Given the description of an element on the screen output the (x, y) to click on. 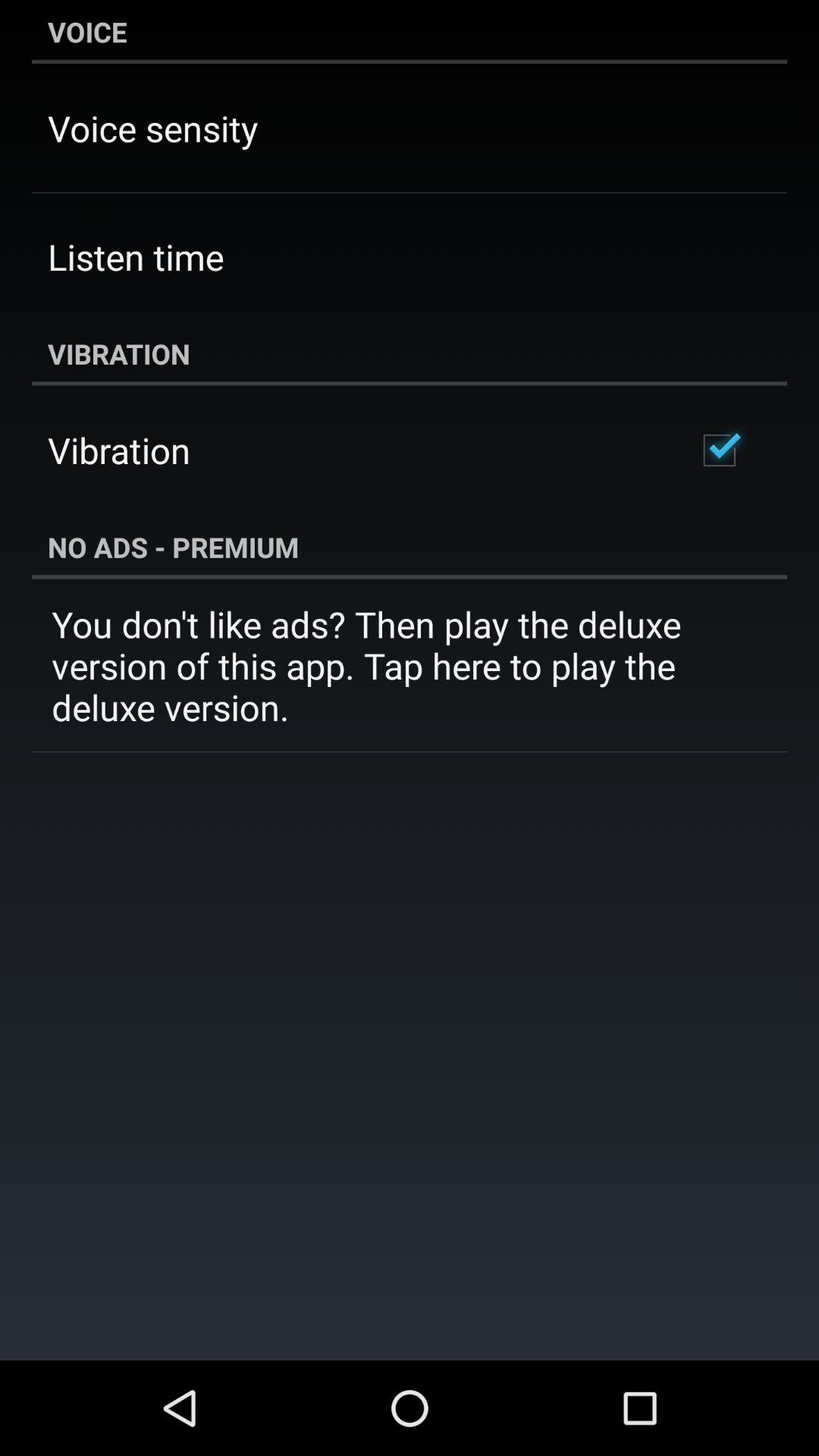
click the item below the vibration icon (719, 450)
